Given the description of an element on the screen output the (x, y) to click on. 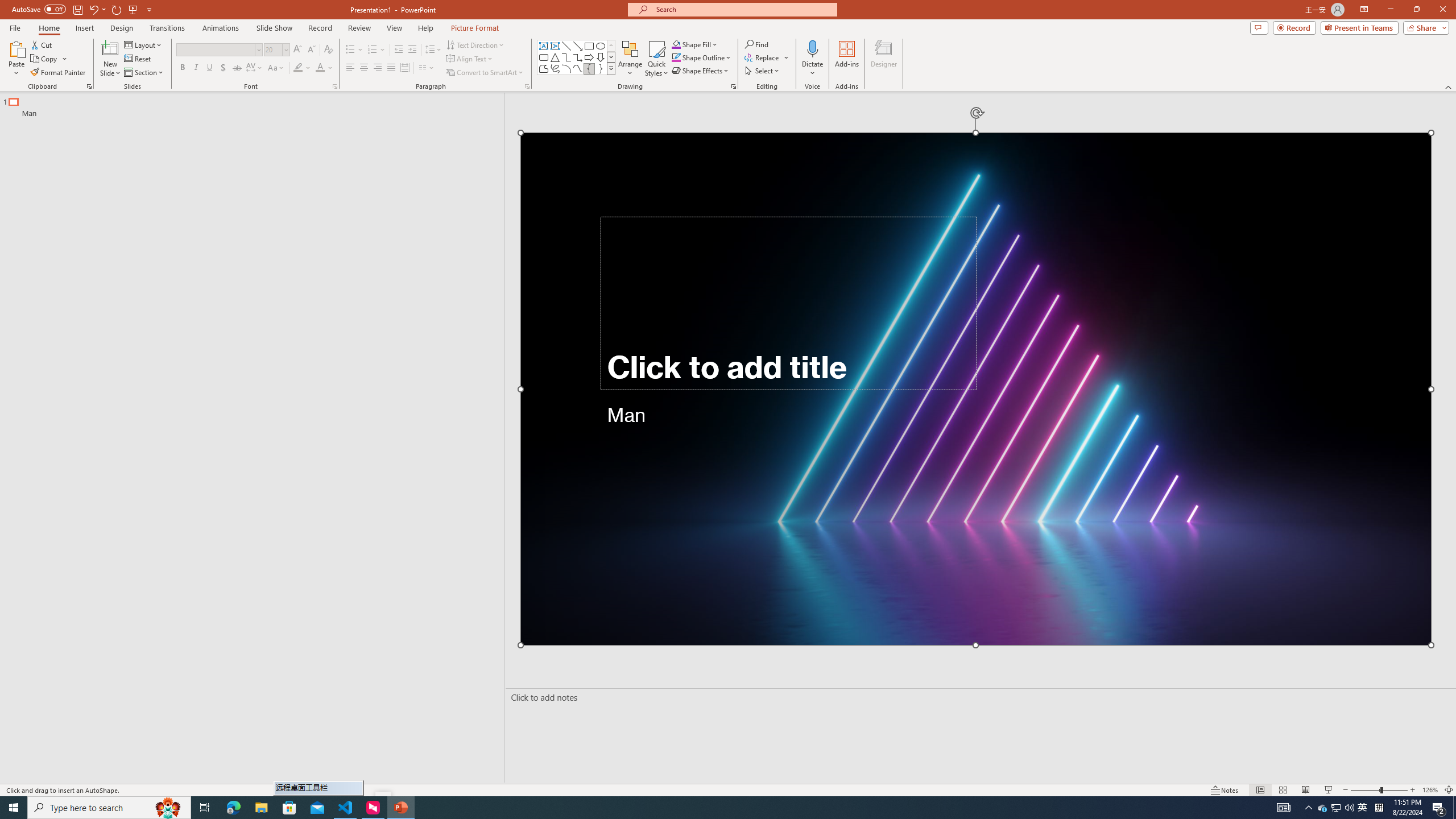
Picture Format (475, 28)
